Given the description of an element on the screen output the (x, y) to click on. 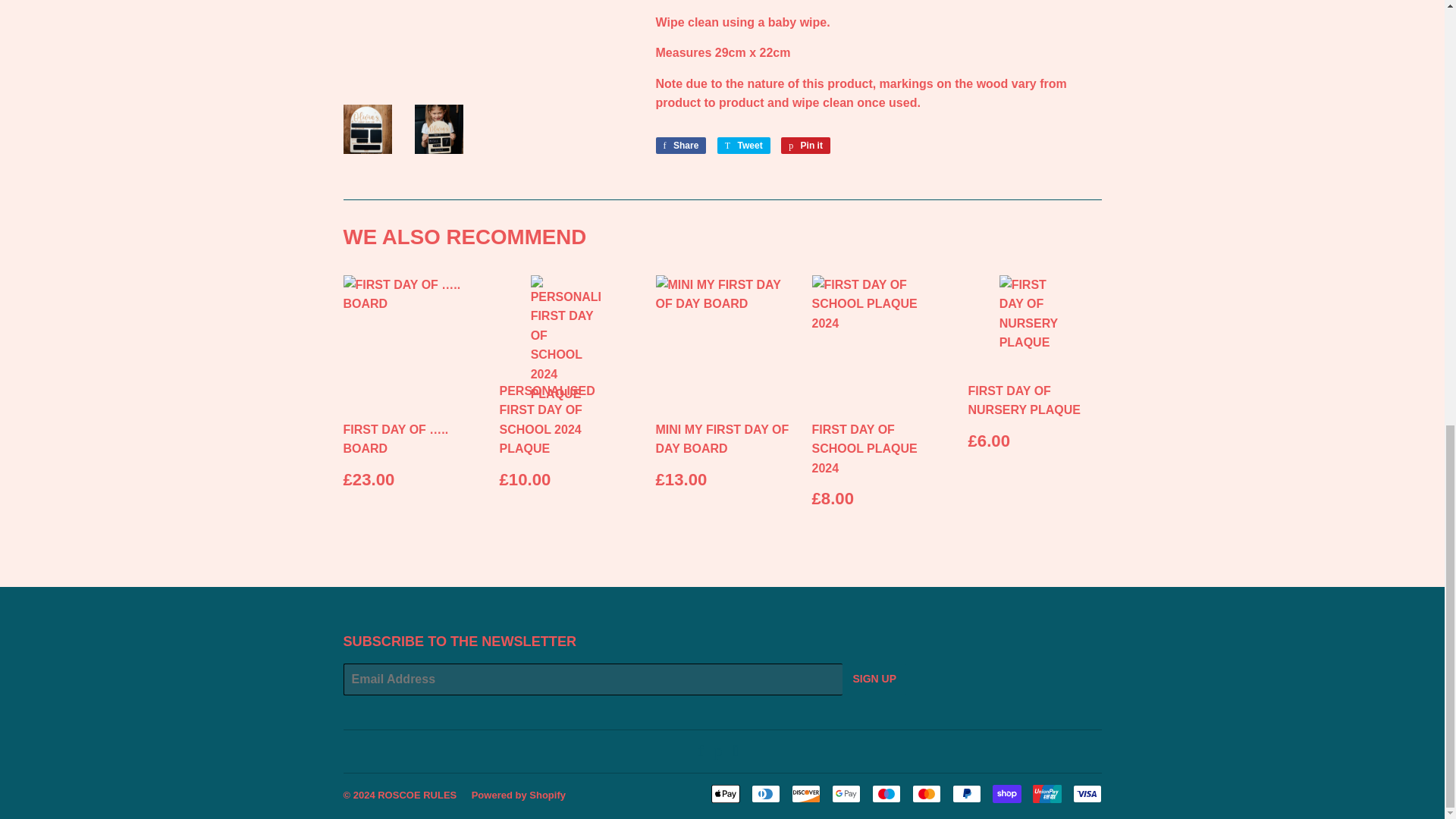
Maestro (886, 793)
Apple Pay (725, 793)
Visa (1085, 793)
Pin on Pinterest (804, 145)
Mastercard (925, 793)
Diners Club (764, 793)
PayPal (966, 793)
Shop Pay (1005, 793)
Google Pay (845, 793)
Share on Facebook (680, 145)
Tweet on Twitter (743, 145)
Union Pay (1046, 793)
Discover (806, 793)
